Given the description of an element on the screen output the (x, y) to click on. 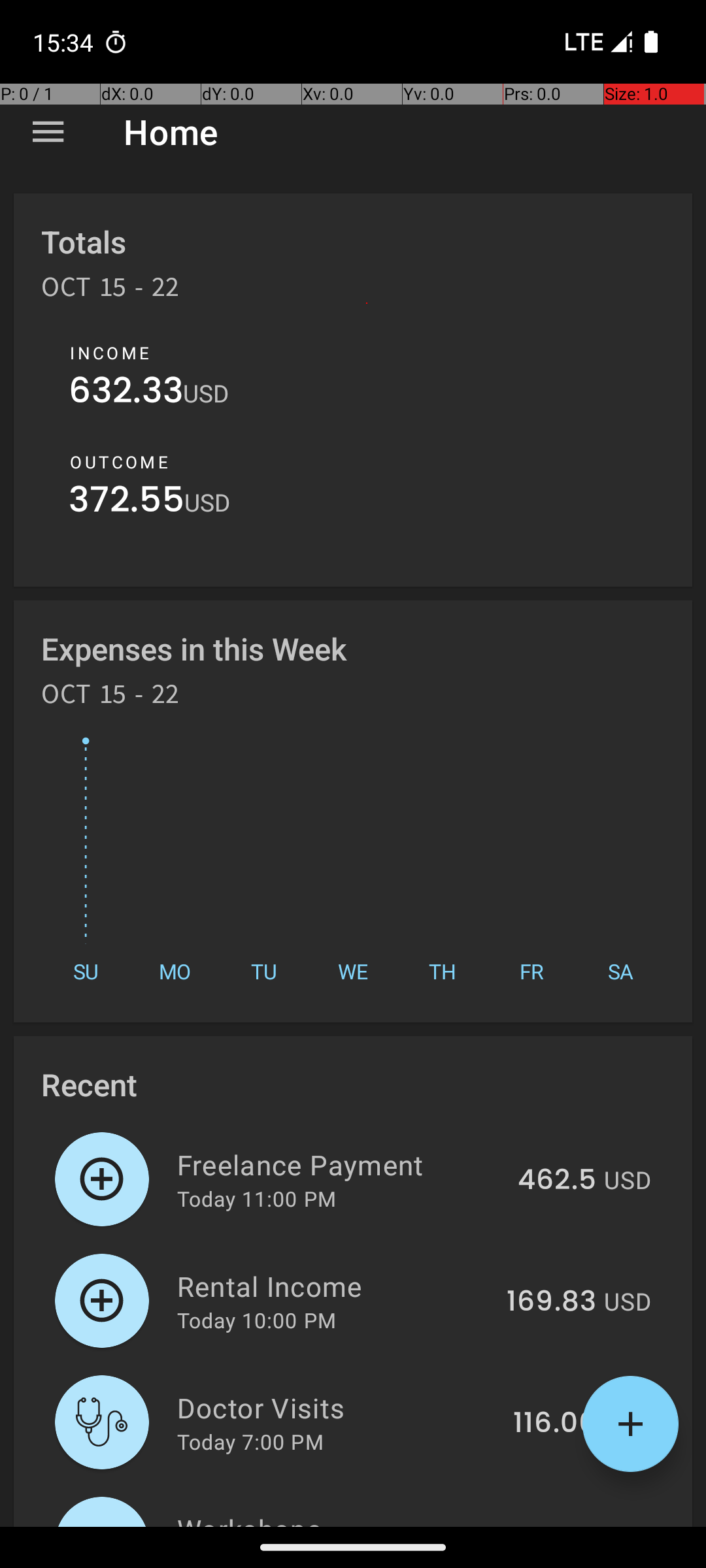
632.33 Element type: android.widget.TextView (125, 393)
372.55 Element type: android.widget.TextView (126, 502)
Today 11:00 PM Element type: android.widget.TextView (256, 1198)
462.5 Element type: android.widget.TextView (556, 1180)
Rental Income Element type: android.widget.TextView (334, 1285)
Today 10:00 PM Element type: android.widget.TextView (256, 1320)
169.83 Element type: android.widget.TextView (550, 1301)
Doctor Visits Element type: android.widget.TextView (337, 1407)
Today 7:00 PM Element type: android.widget.TextView (250, 1441)
116.06 Element type: android.widget.TextView (554, 1423)
Workshops Element type: android.widget.TextView (334, 1518)
167.46 Element type: android.widget.TextView (551, 1524)
